Given the description of an element on the screen output the (x, y) to click on. 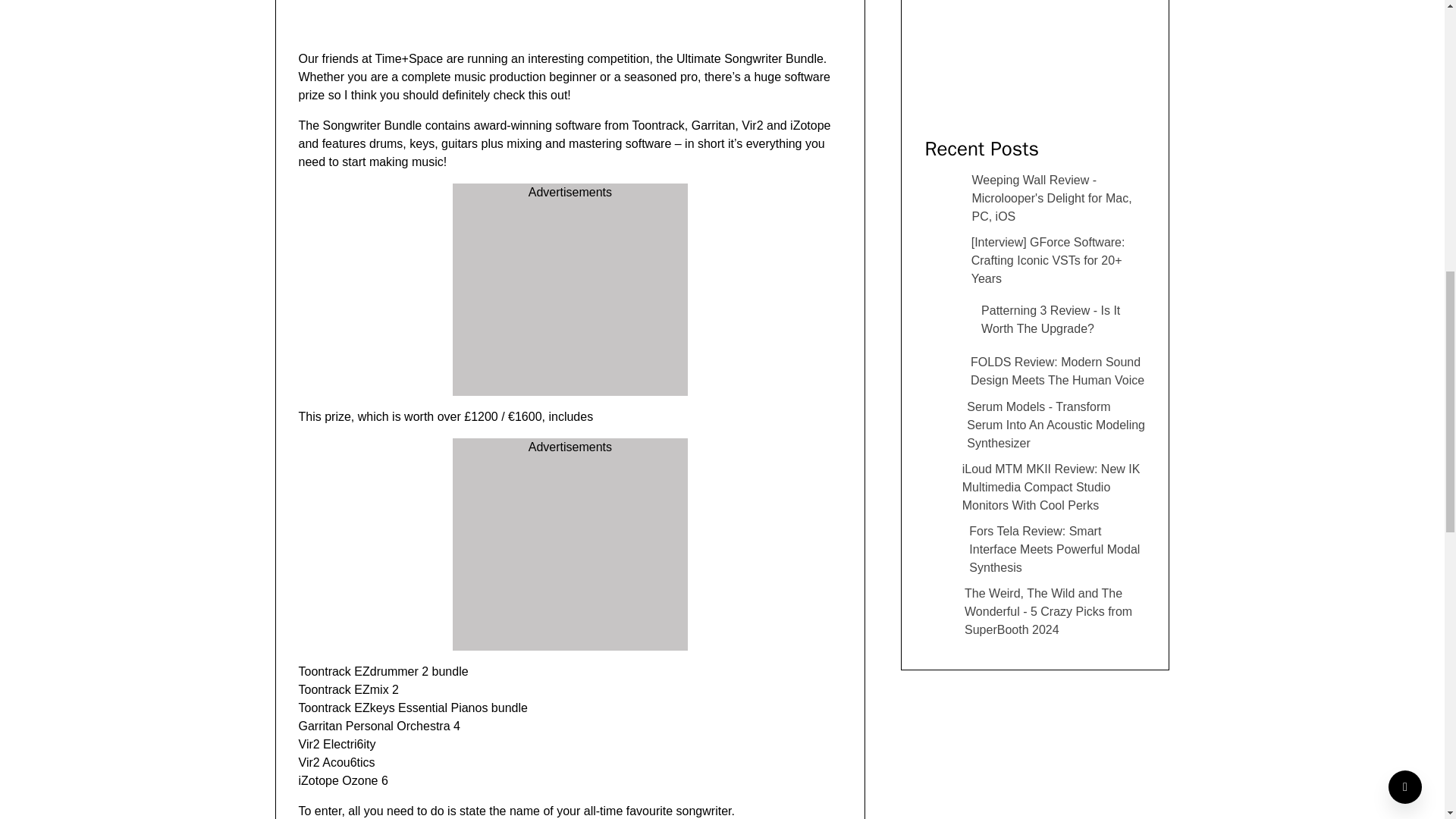
FOLDS Review: Modern Sound Design Meets The Human Voice (1034, 371)
Patterning 3 Review - Is It Worth The Upgrade? (1034, 319)
Weeping Wall Review - Microlooper's Delight for Mac, PC, iOS (1034, 198)
